Given the description of an element on the screen output the (x, y) to click on. 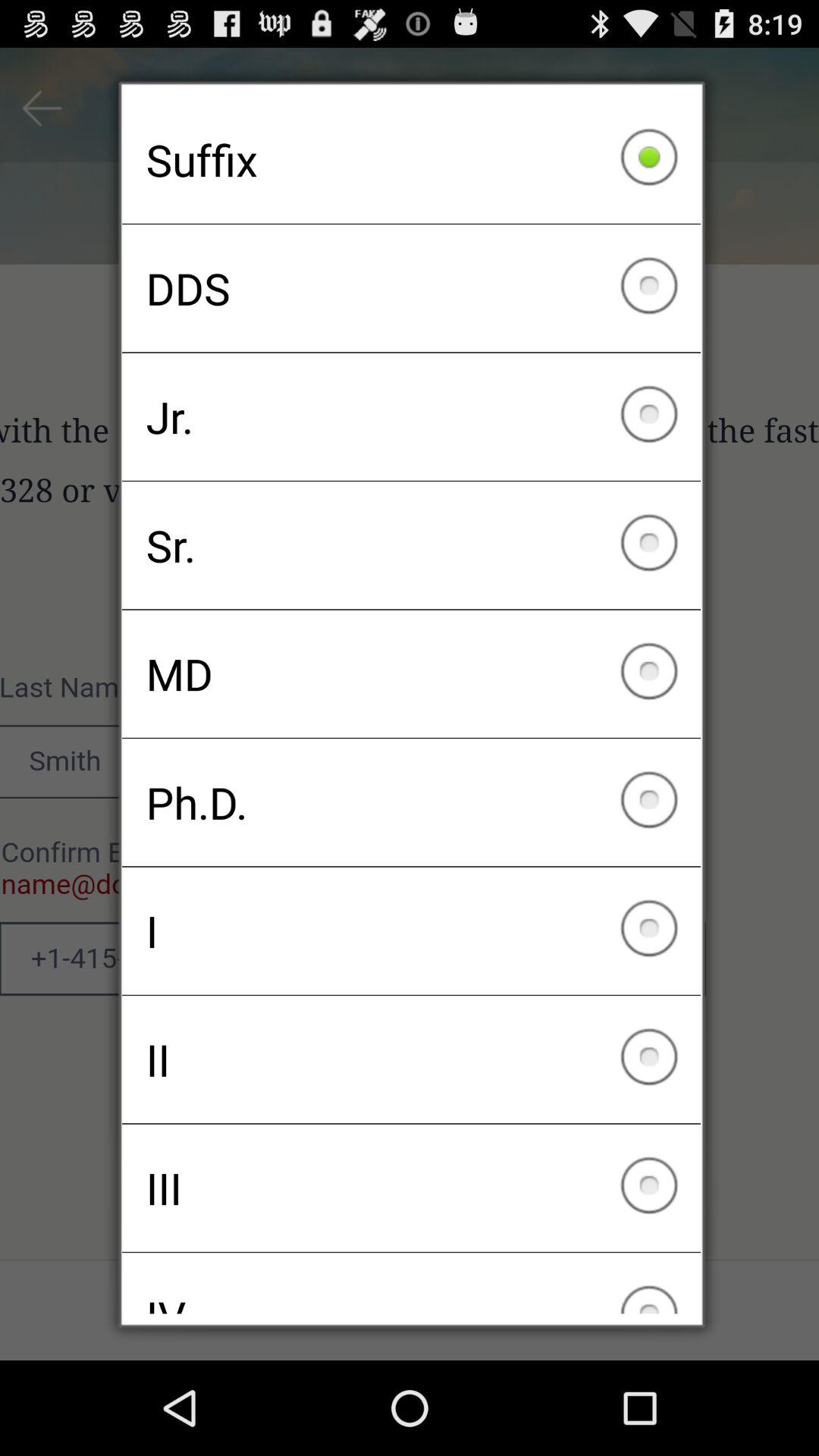
scroll to dds (411, 288)
